Given the description of an element on the screen output the (x, y) to click on. 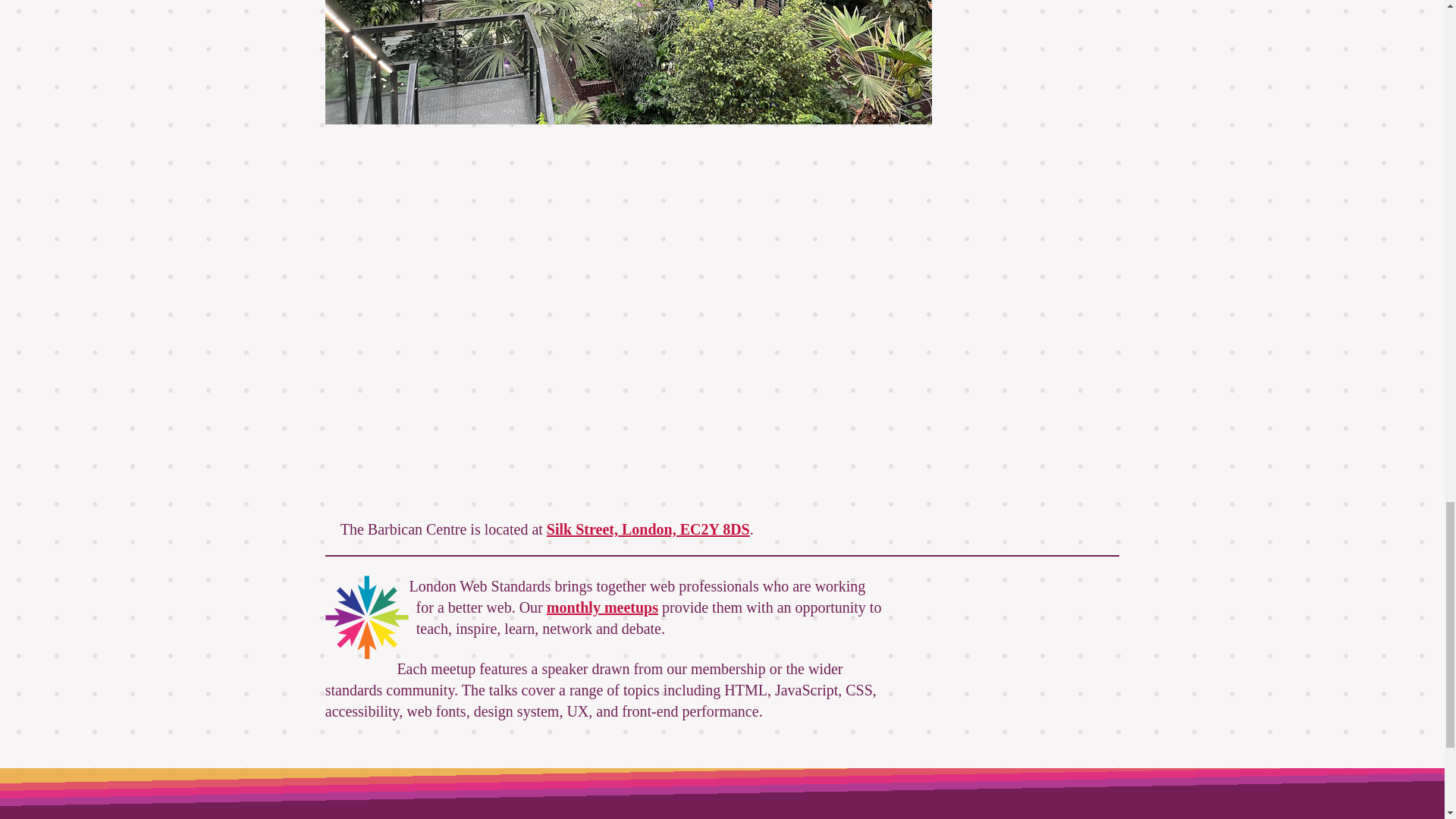
Silk Street, London, EC2Y 8DS (648, 528)
monthly meetups (602, 606)
